Given the description of an element on the screen output the (x, y) to click on. 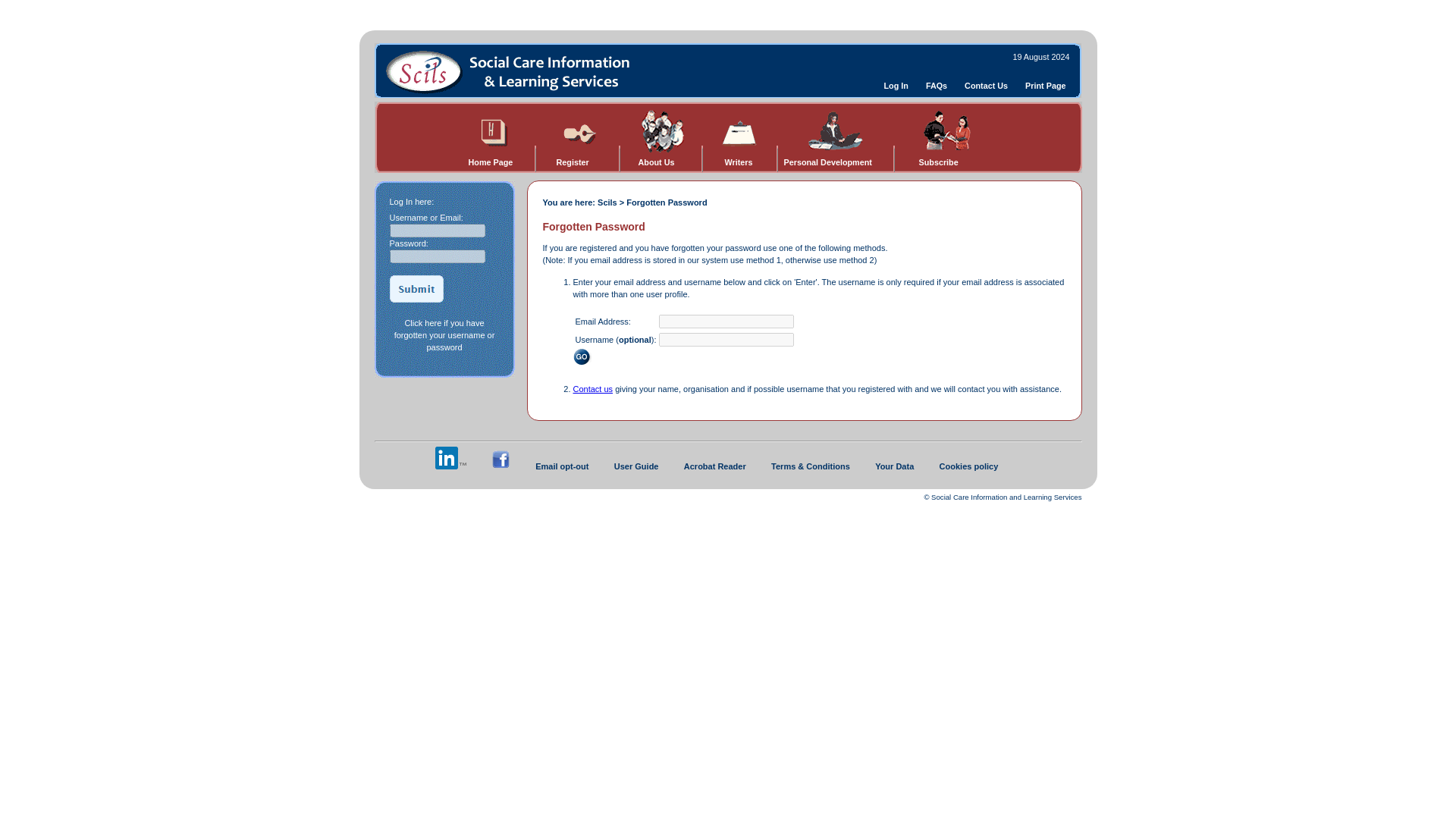
User Guide (636, 465)
Your Data (894, 465)
Personal Development (828, 162)
Writers (738, 162)
Subscribe (938, 162)
Home Page (490, 162)
Email opt-out (561, 465)
Click here if you have forgotten your username or password (444, 335)
Print Page (1045, 85)
Log In (895, 85)
